Given the description of an element on the screen output the (x, y) to click on. 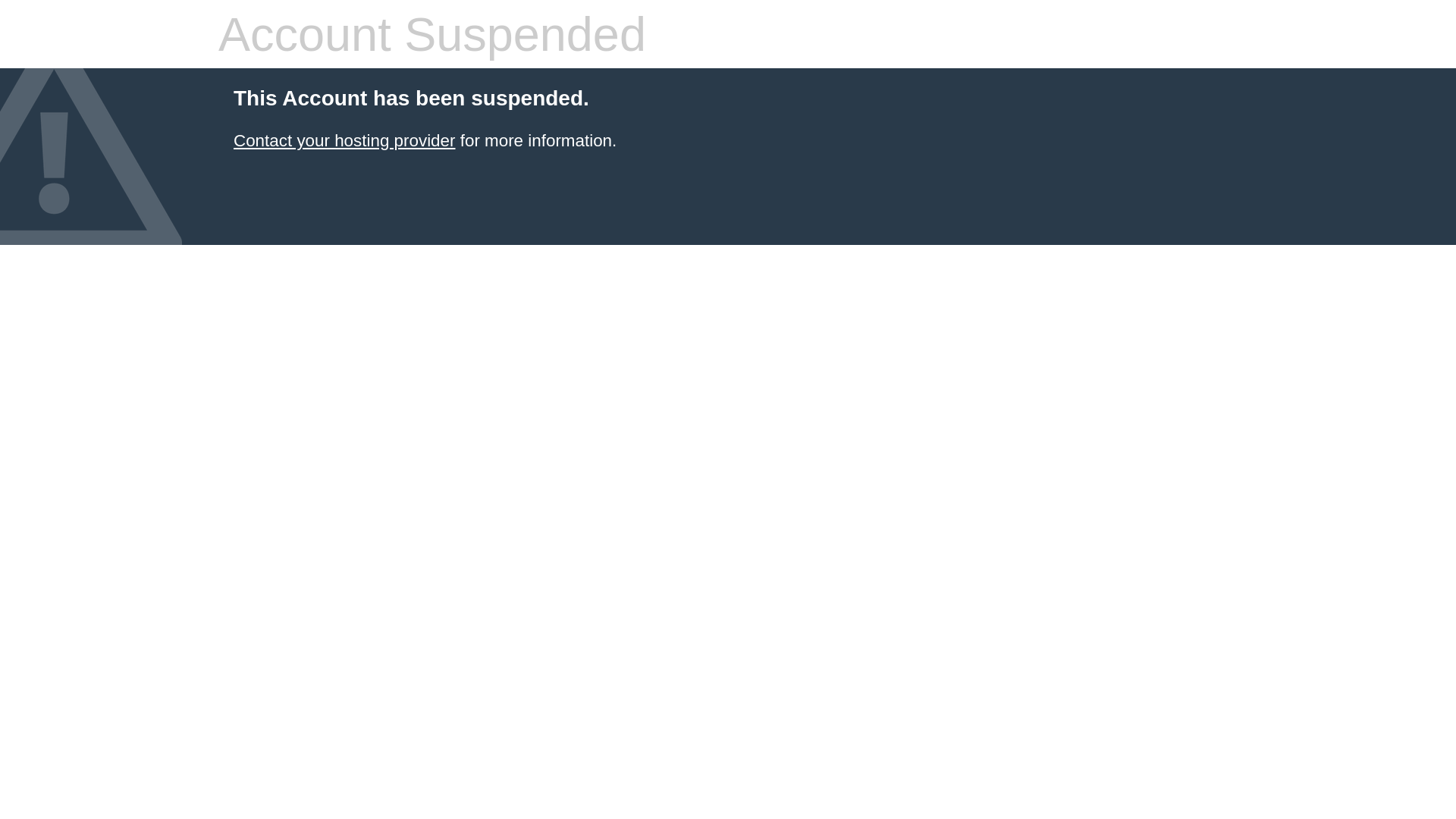
Contact your hosting provider Element type: text (344, 140)
